Given the description of an element on the screen output the (x, y) to click on. 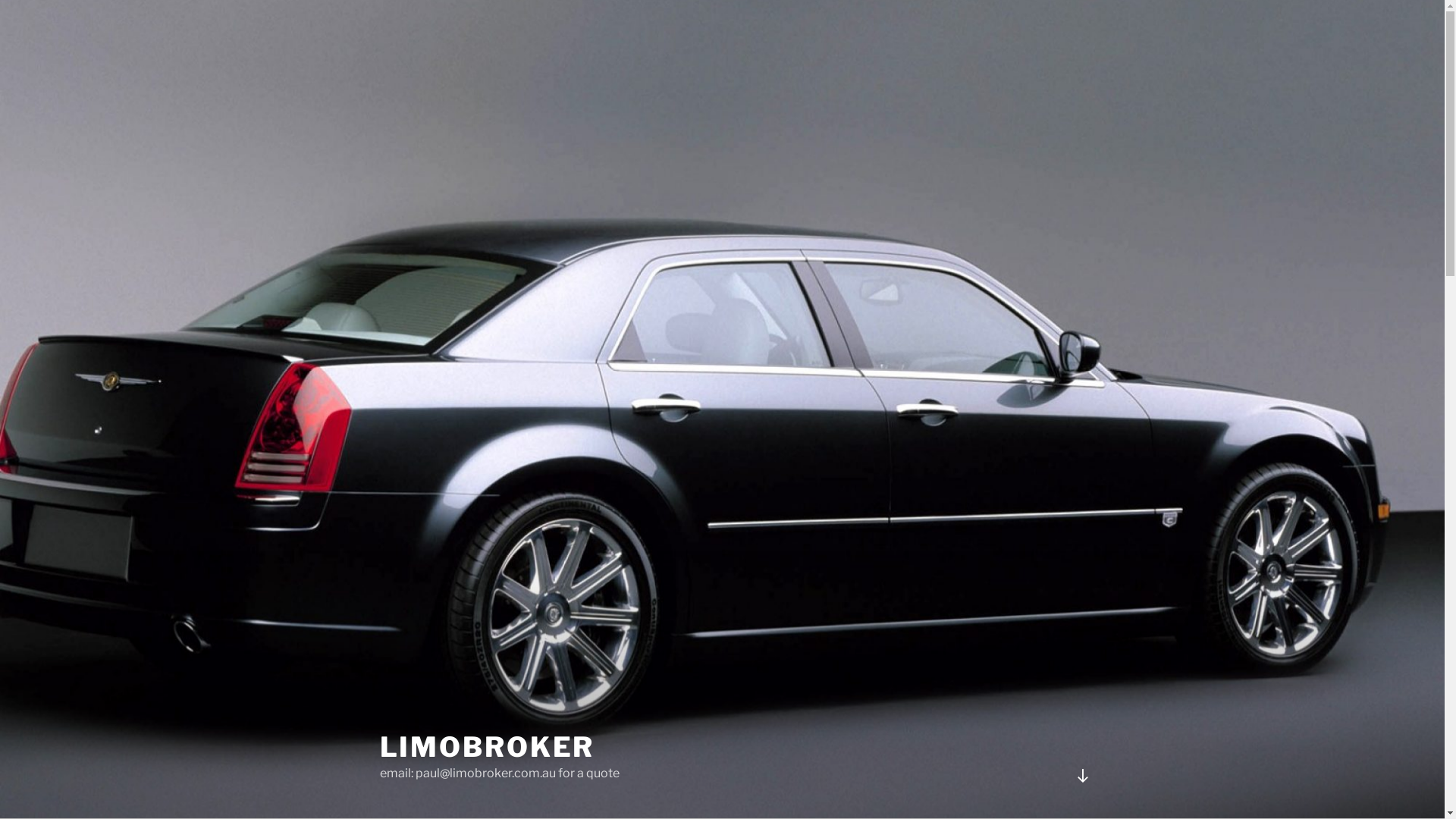
Scroll down to content Element type: text (1082, 775)
Skip to content Element type: text (0, 0)
LIMOBROKER Element type: text (486, 746)
